Given the description of an element on the screen output the (x, y) to click on. 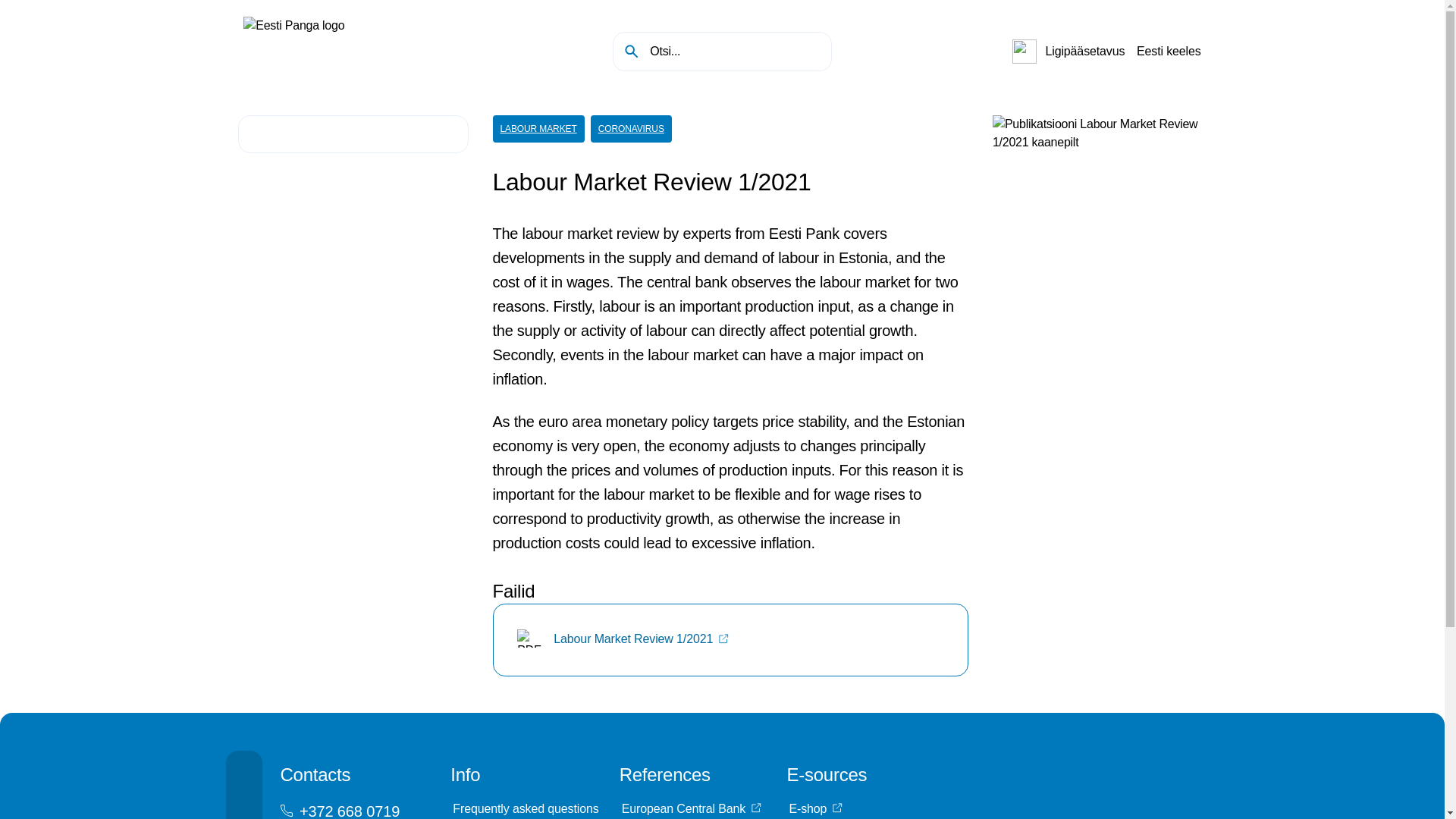
Eesti keeles (1169, 51)
Frequently asked questions (524, 808)
CORONAVIRUS (631, 128)
European Central Bank (694, 808)
LABOUR MARKET (539, 128)
